Given the description of an element on the screen output the (x, y) to click on. 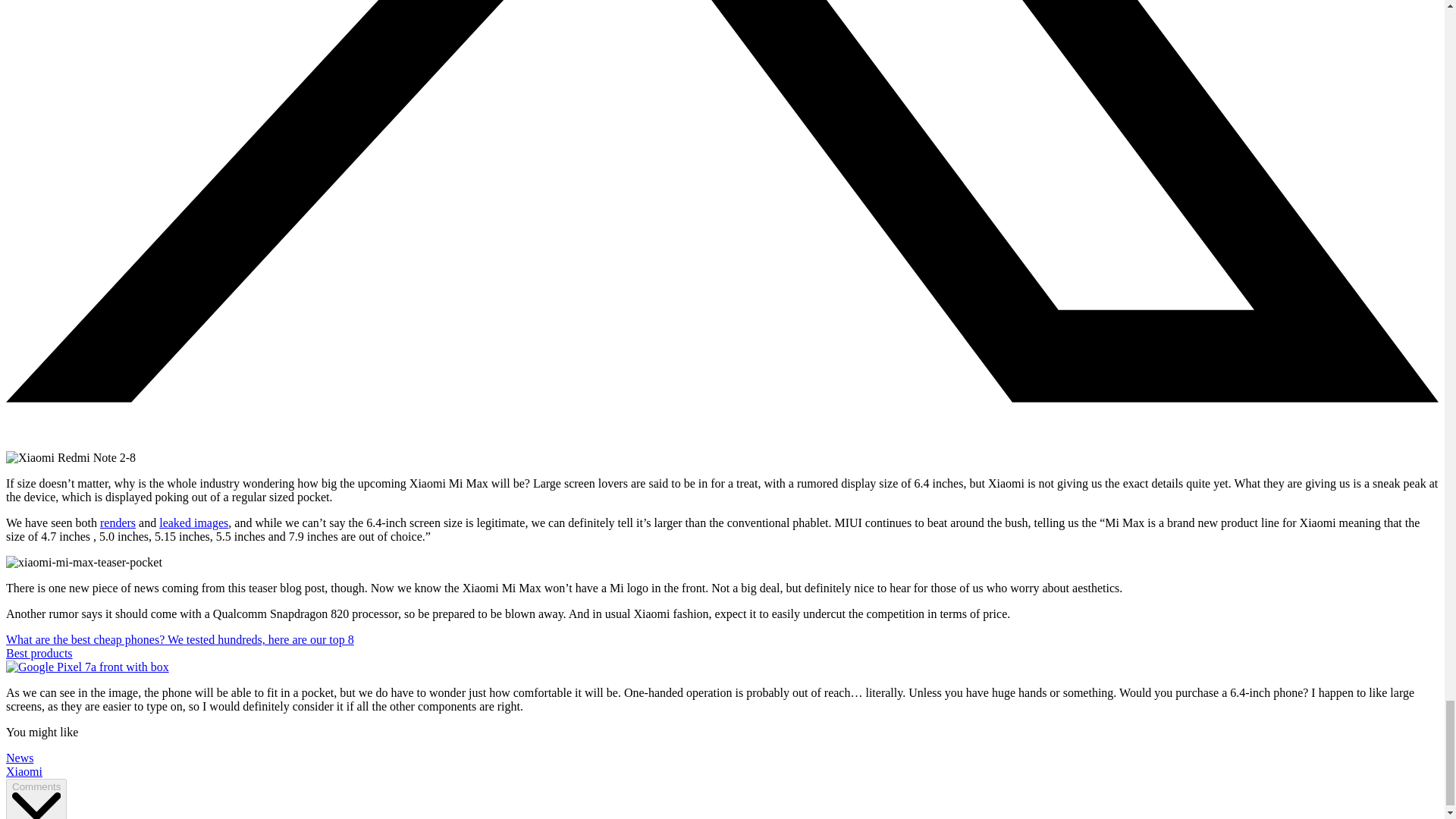
Xiaomi Redmi Note 2-8 (70, 458)
Xiaomi (23, 771)
Google Pixel 7a front with box (86, 667)
renders (117, 522)
xiaomi-mi-max-teaser-pocket (83, 562)
leaked images (193, 522)
News (19, 757)
